Given the description of an element on the screen output the (x, y) to click on. 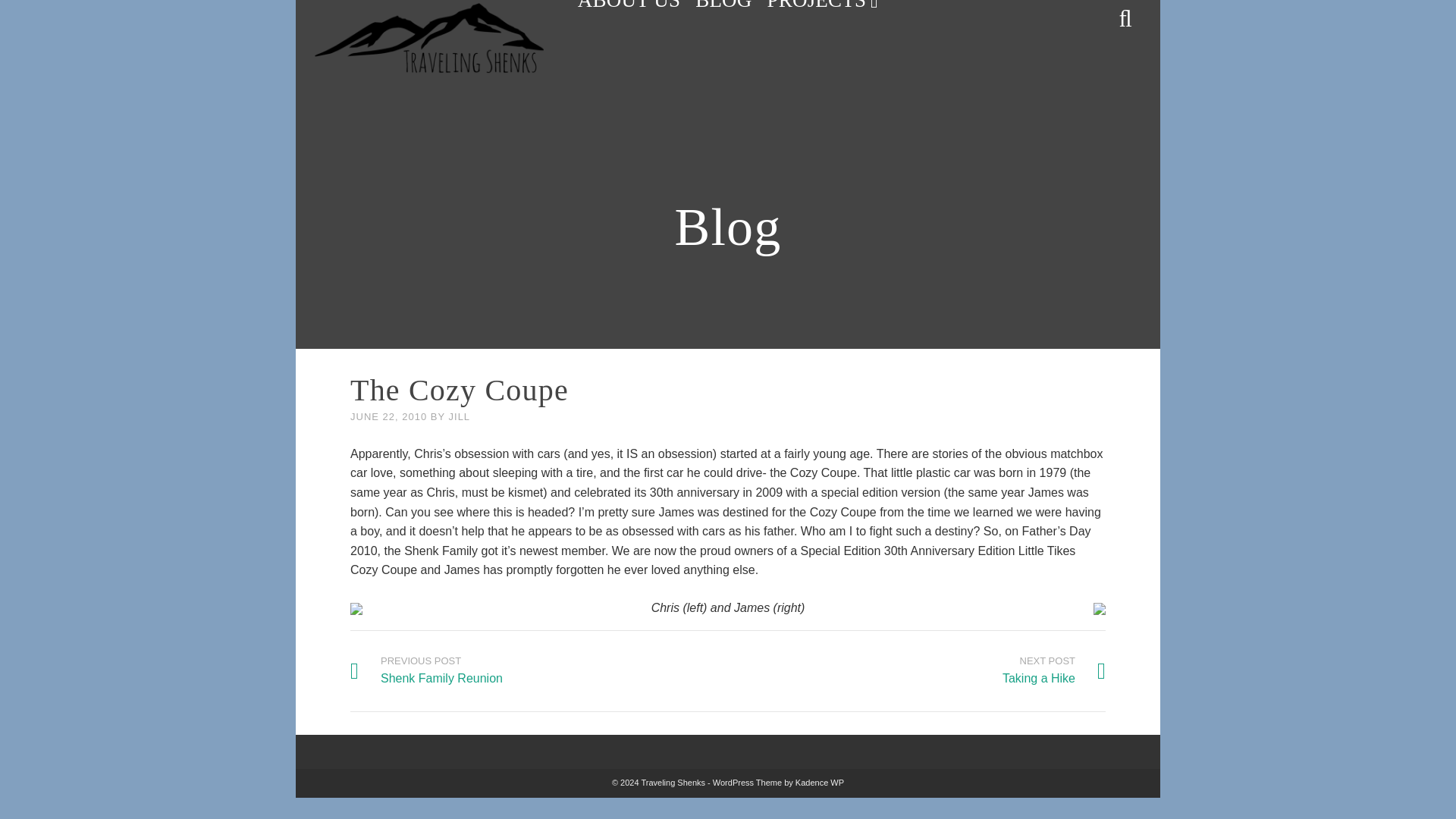
Kadence WP (819, 782)
ABOUT US (628, 9)
PROJECTS (426, 670)
JILL (823, 9)
BLOG (1054, 670)
